Given the description of an element on the screen output the (x, y) to click on. 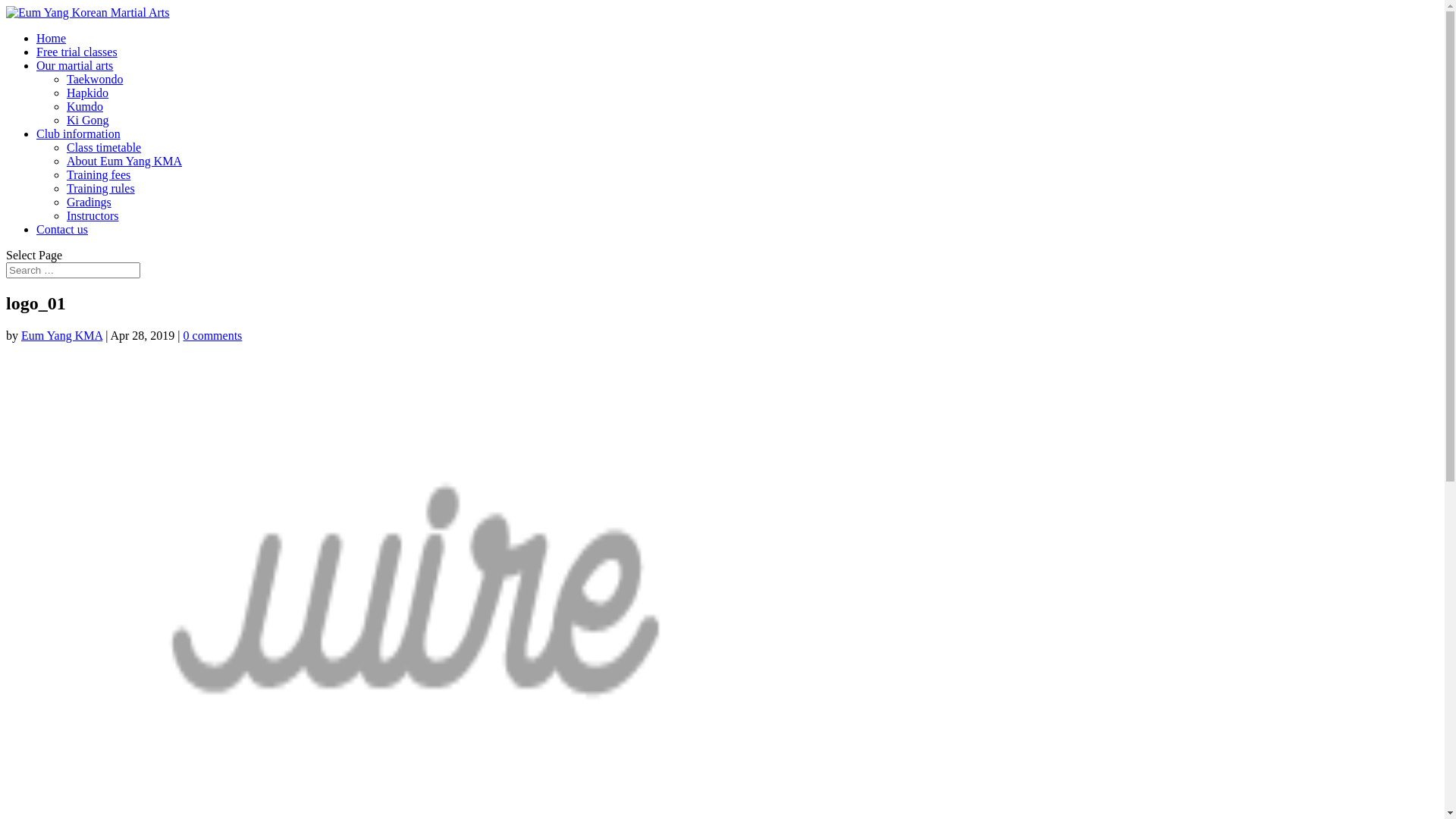
Club information Element type: text (78, 133)
Eum Yang KMA Element type: text (61, 335)
Hapkido Element type: text (87, 92)
Kumdo Element type: text (84, 106)
Class timetable Element type: text (103, 147)
Training rules Element type: text (100, 188)
Gradings Element type: text (88, 201)
Free trial classes Element type: text (76, 51)
Training fees Element type: text (98, 174)
Instructors Element type: text (92, 215)
Contact us Element type: text (61, 228)
Our martial arts Element type: text (74, 65)
Home Element type: text (50, 37)
Taekwondo Element type: text (94, 78)
Ki Gong Element type: text (87, 119)
Search for: Element type: hover (73, 270)
0 comments Element type: text (212, 335)
About Eum Yang KMA Element type: text (124, 160)
